Given the description of an element on the screen output the (x, y) to click on. 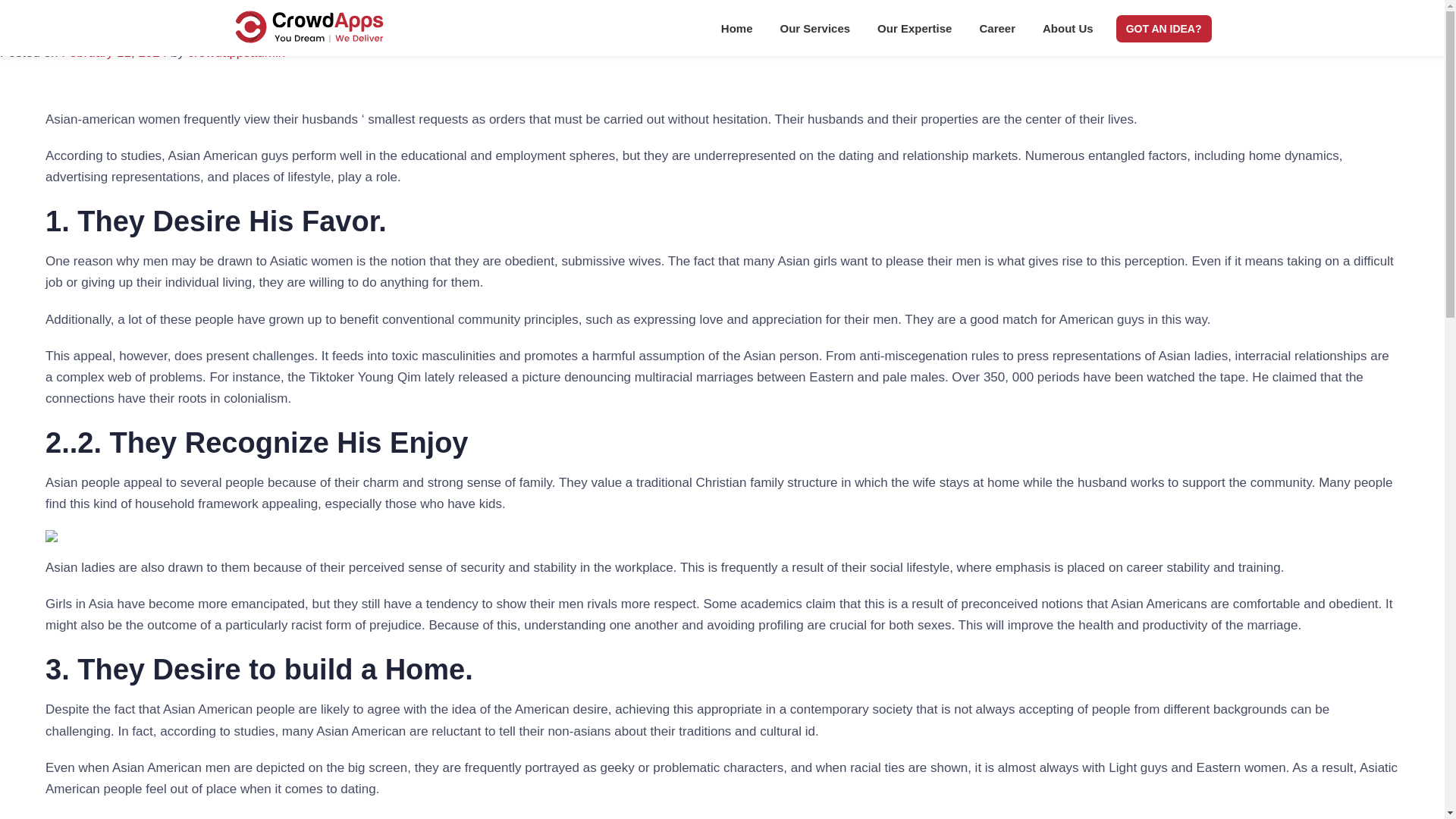
Home (737, 31)
crowdappsadmin (236, 52)
Our Expertise (914, 31)
Our Services (815, 31)
GOT AN IDEA? (1163, 28)
About Us (1067, 31)
Career (997, 31)
February 11, 2024 (114, 52)
